Given the description of an element on the screen output the (x, y) to click on. 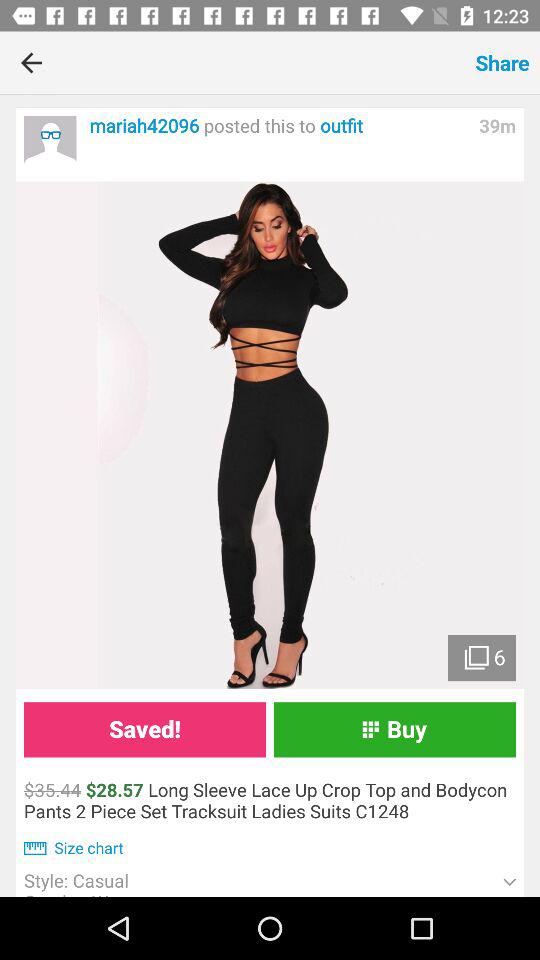
turn on the item next to the 39m icon (278, 126)
